Given the description of an element on the screen output the (x, y) to click on. 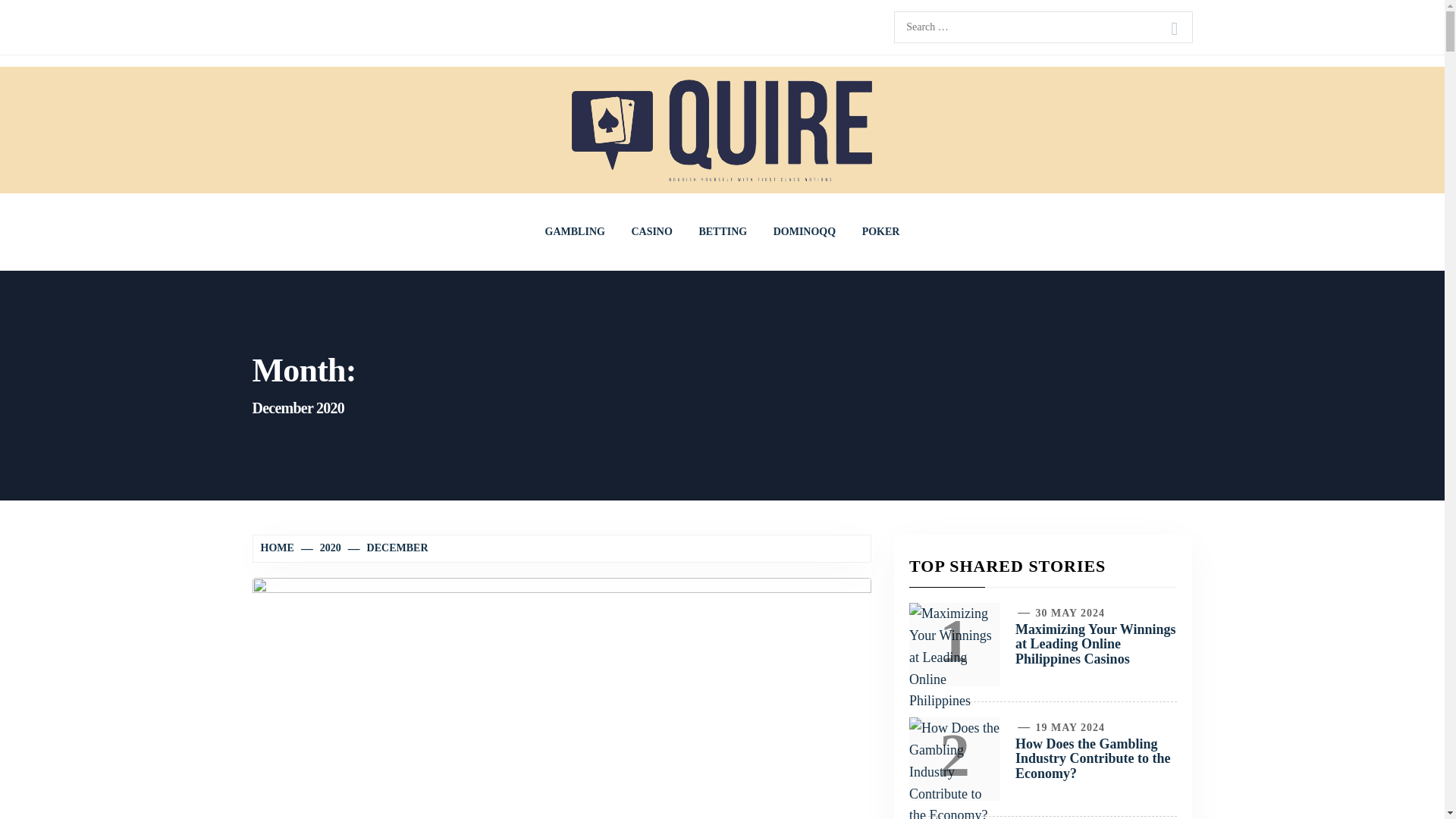
CASINO (651, 231)
HOME (279, 547)
2020 (322, 547)
Search (1174, 28)
GAMBLING (574, 231)
BETTING (722, 231)
DECEMBER (389, 547)
POKER (880, 231)
Search (1174, 28)
DOMINOQQ (804, 231)
